Given the description of an element on the screen output the (x, y) to click on. 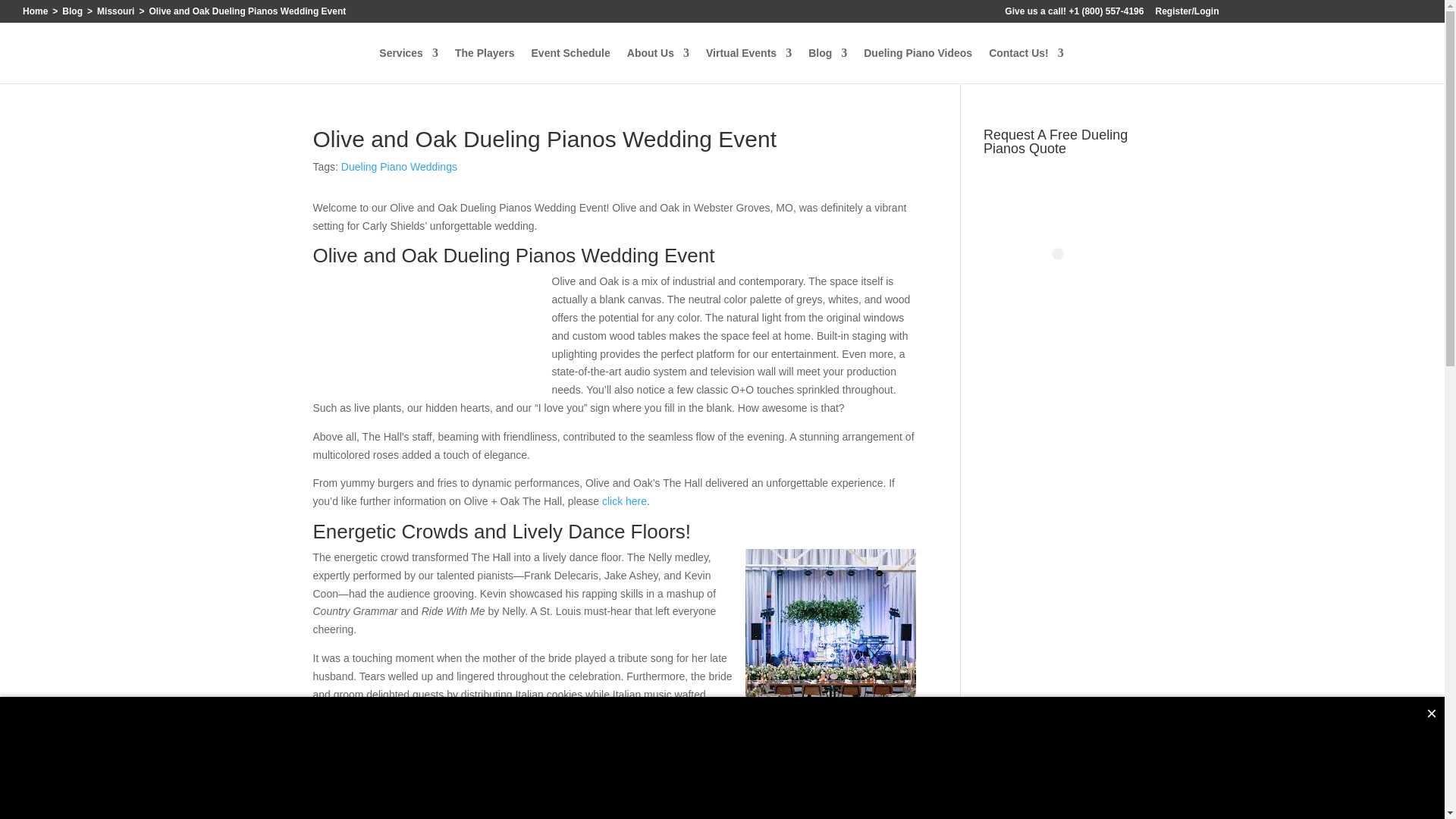
Blog (827, 65)
Missouri (115, 10)
Contact Us! (1026, 65)
About Us (657, 65)
Home (35, 10)
Olive and Oak Dueling Pianos Wedding Event (426, 330)
Services (408, 65)
The Players (484, 65)
Event Schedule (570, 65)
Dueling Piano Weddings (398, 166)
